Given the description of an element on the screen output the (x, y) to click on. 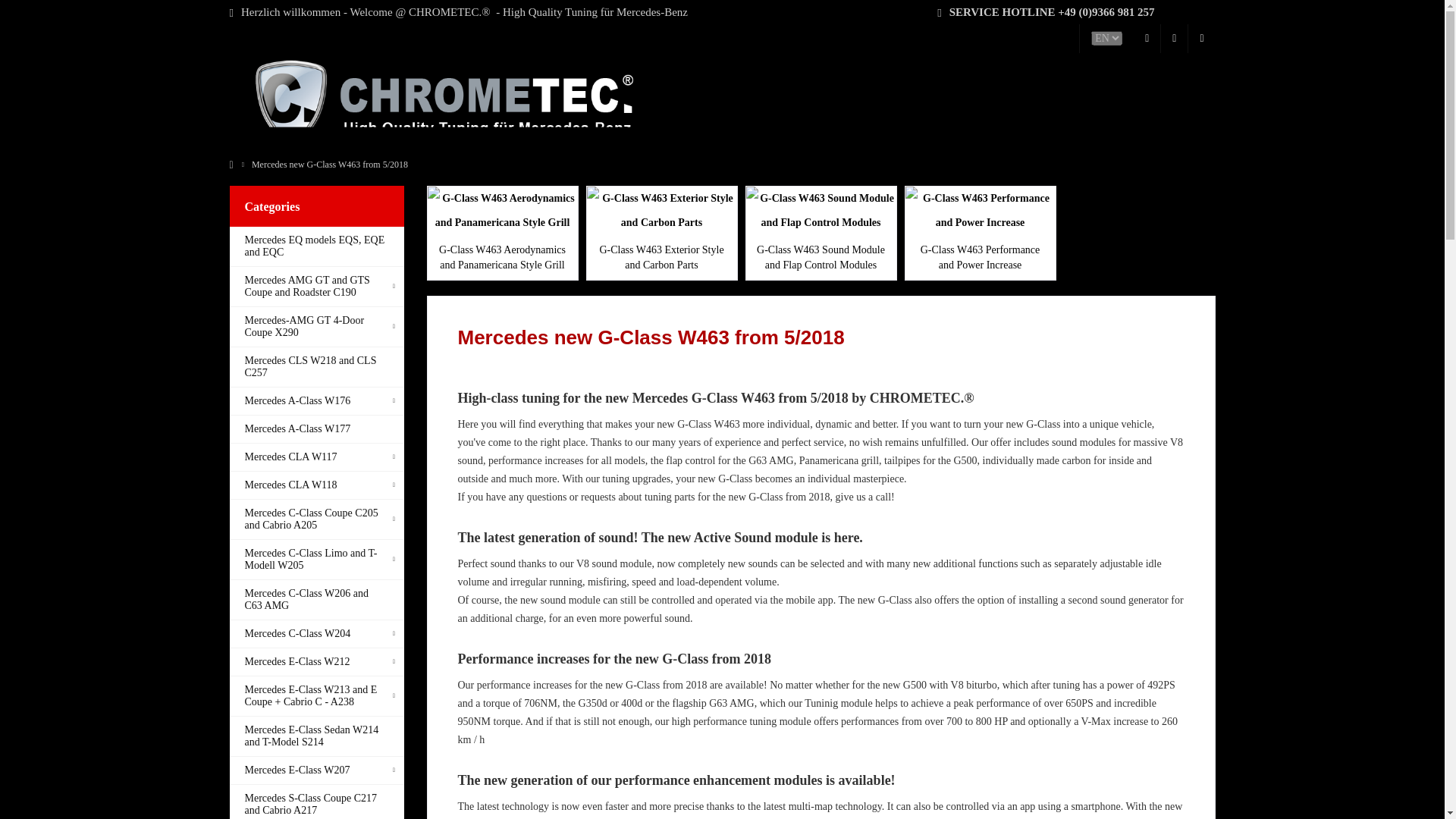
Mercedes EQ models EQS, EQE and EQC (315, 246)
Mercedes CLS W218 and CLS C257 (315, 367)
Mercedes A-Class W176 (315, 401)
CHROMETEC. - Switch to homepage (437, 105)
Mercedes EQ models EQS, EQE and EQC (315, 246)
Mercedes-AMG GT 4-Door Coupe X290 (315, 327)
Mercedes AMG GT and GTS Coupe and Roadster C190 (315, 286)
Customer account (1174, 38)
